Given the description of an element on the screen output the (x, y) to click on. 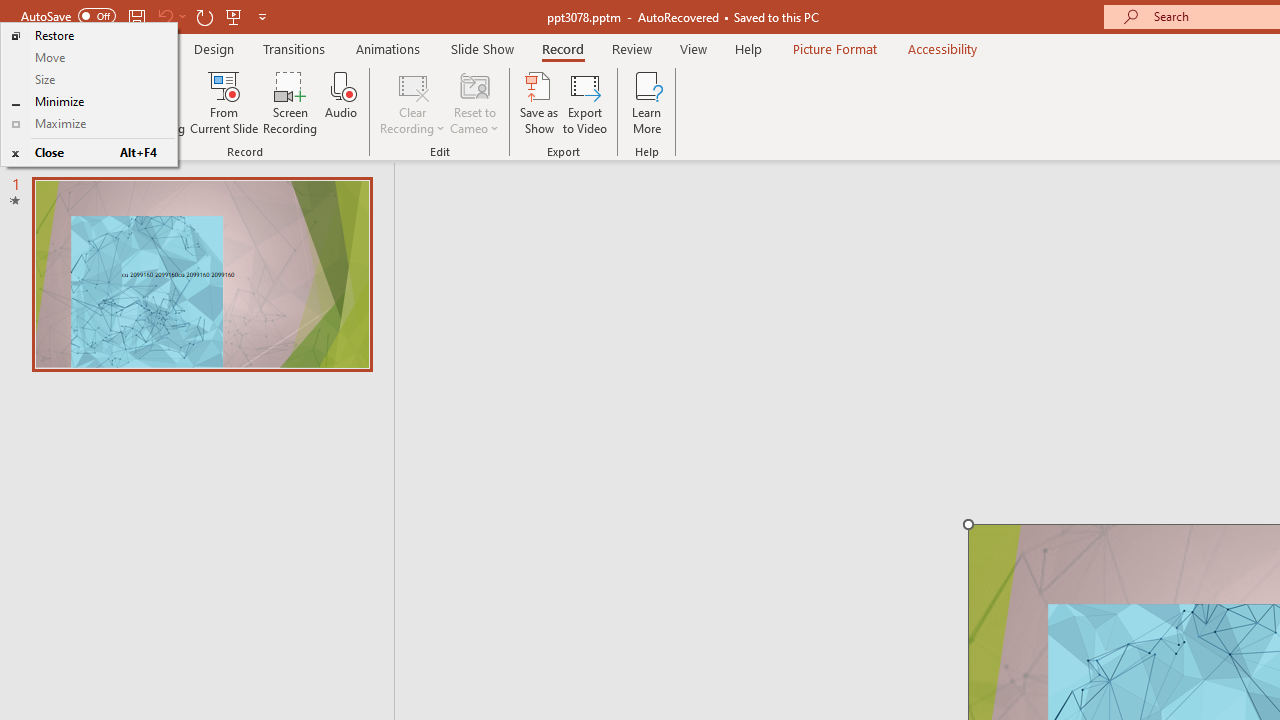
Picture Format (834, 48)
Restore (88, 35)
